Given the description of an element on the screen output the (x, y) to click on. 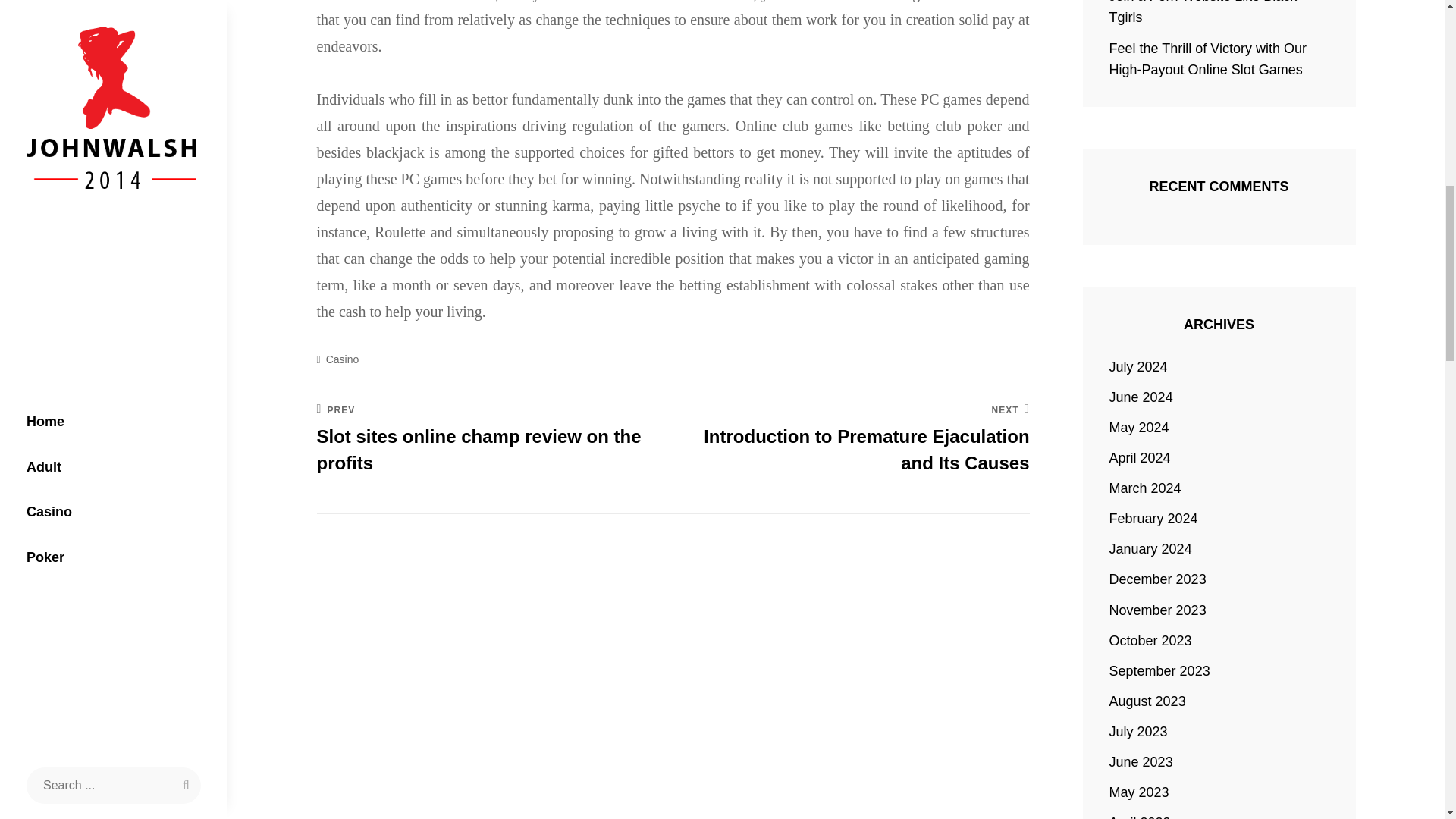
August 2023 (1147, 701)
June 2023 (1141, 762)
June 2024 (1141, 396)
January 2024 (1150, 548)
April 2023 (1139, 815)
September 2023 (1159, 670)
April 2024 (1139, 457)
Casino (850, 439)
November 2023 (342, 359)
Join a Porn Website Like Black Tgirls (1158, 608)
July 2023 (1203, 12)
July 2024 (1138, 731)
February 2024 (1138, 366)
